Given the description of an element on the screen output the (x, y) to click on. 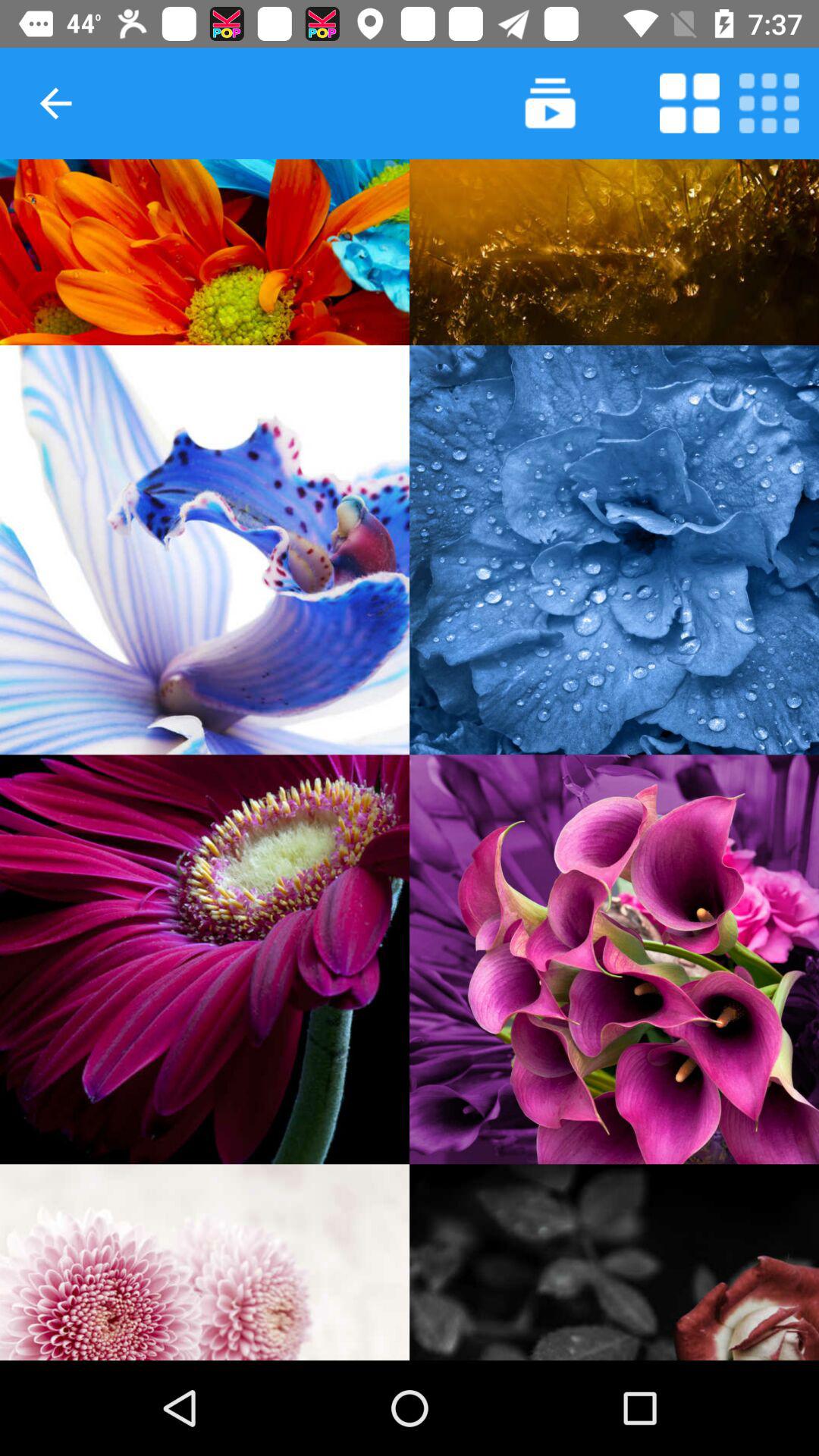
show image (204, 252)
